Given the description of an element on the screen output the (x, y) to click on. 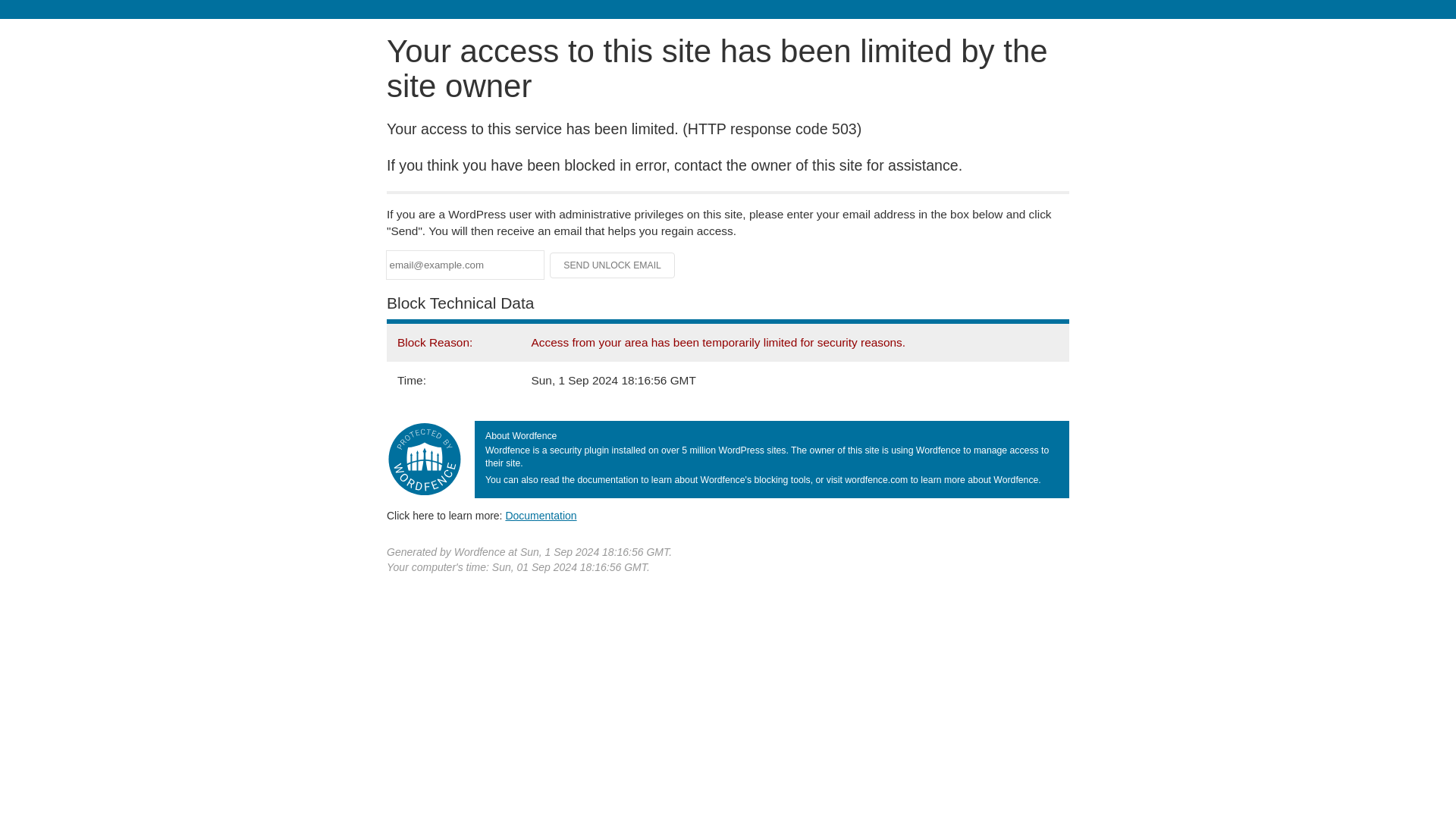
Send Unlock Email (612, 265)
Documentation (540, 515)
Send Unlock Email (612, 265)
